Given the description of an element on the screen output the (x, y) to click on. 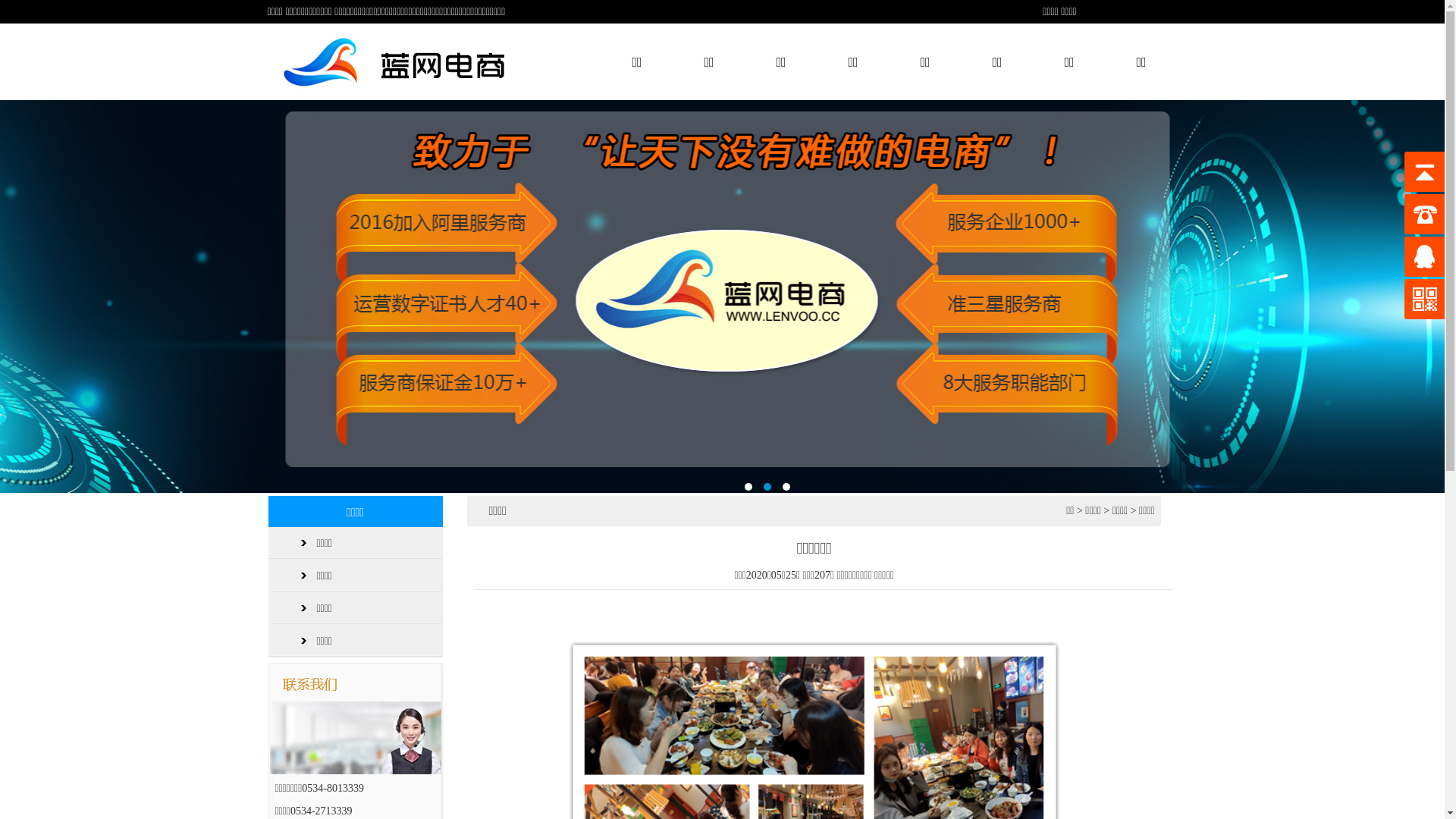
3 Element type: text (786, 486)
1 Element type: text (748, 486)
2 Element type: text (766, 486)
